Given the description of an element on the screen output the (x, y) to click on. 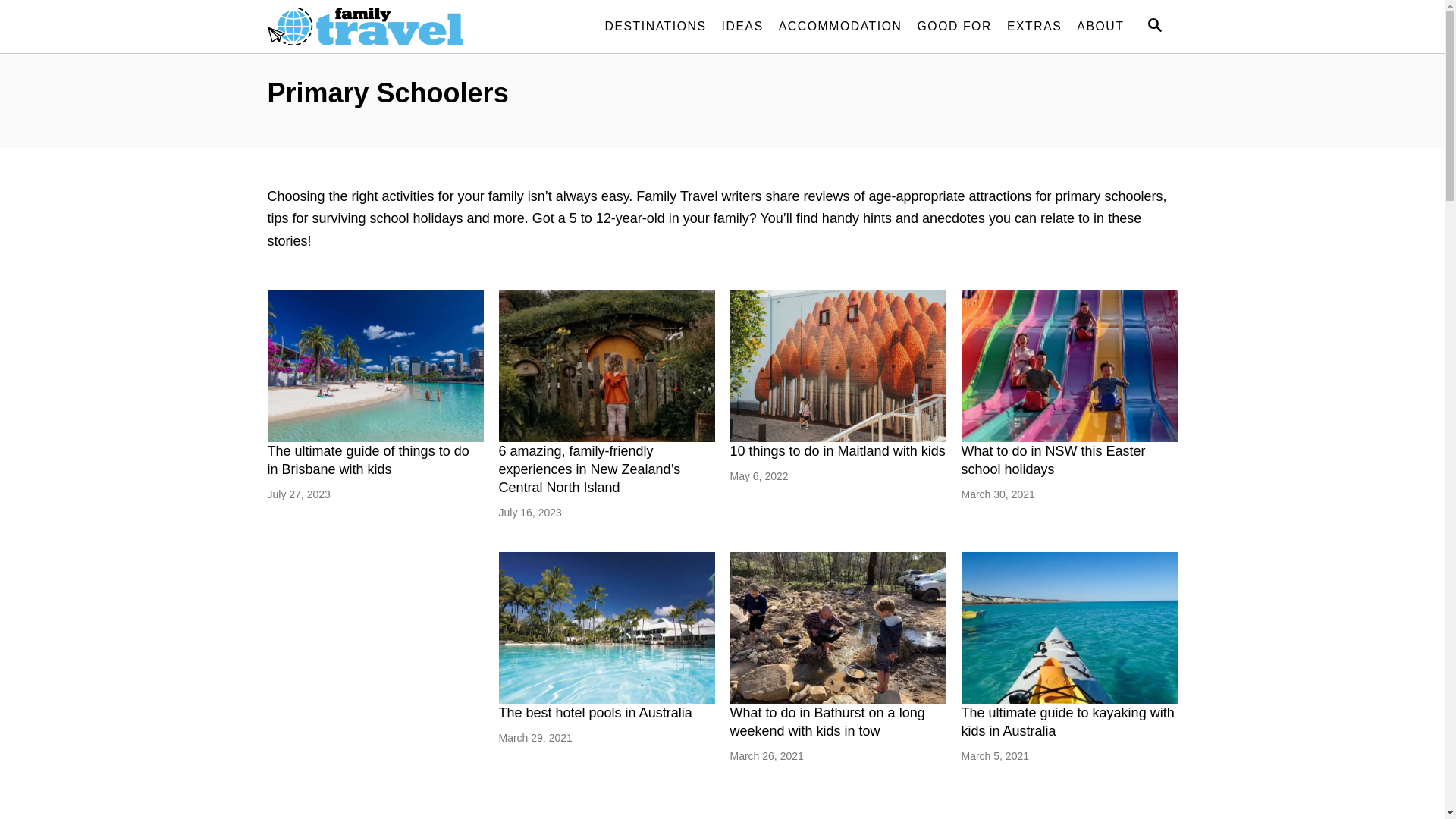
Family Travel Element type: hover (402, 26)
The ultimate guide to kayaking with kids in Australia Element type: hover (1069, 627)
The best hotel pools in Australia Element type: text (595, 712)
EXTRAS Element type: text (1034, 26)
The best hotel pools in Australia Element type: hover (606, 627)
What to do in Bathurst on a long weekend with kids in tow Element type: text (826, 721)
The ultimate guide of things to do in Brisbane with kids Element type: hover (374, 366)
ACCOMMODATION Element type: text (840, 26)
What to do in Bathurst on a long weekend with kids in tow Element type: hover (837, 627)
The ultimate guide of things to do in Brisbane with kids Element type: text (367, 459)
ABOUT Element type: text (1100, 26)
IDEAS Element type: text (742, 26)
What to do in NSW this Easter school holidays Element type: hover (1069, 366)
The ultimate guide to kayaking with kids in Australia Element type: text (1067, 721)
GOOD FOR Element type: text (954, 26)
SEARCH
MAGNIFYING GLASS Element type: text (1153, 25)
10 things to do in Maitland with kids Element type: hover (837, 366)
What to do in NSW this Easter school holidays Element type: text (1053, 459)
DESTINATIONS Element type: text (654, 26)
10 things to do in Maitland with kids Element type: text (836, 450)
